Given the description of an element on the screen output the (x, y) to click on. 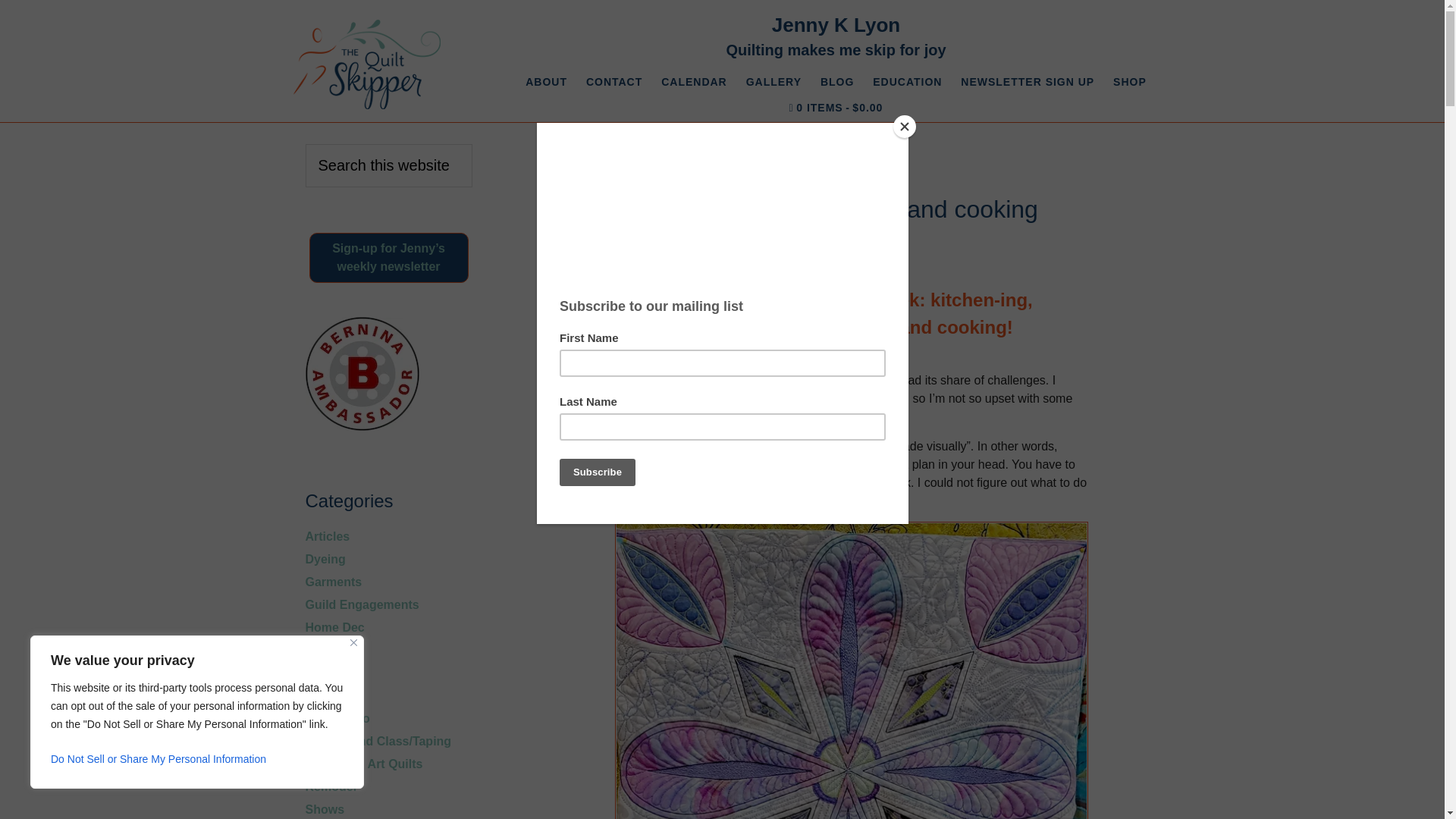
SHOP (1129, 81)
EDUCATION (906, 81)
THE QUILT SKIPPER (365, 64)
NEWSLETTER SIGN UP (1027, 81)
ABOUT (546, 81)
Start shopping (836, 108)
CONTACT (613, 81)
GALLERY (773, 81)
Do Not Sell or Share My Personal Information (196, 759)
CALENDAR (694, 81)
BLOG (836, 81)
